Given the description of an element on the screen output the (x, y) to click on. 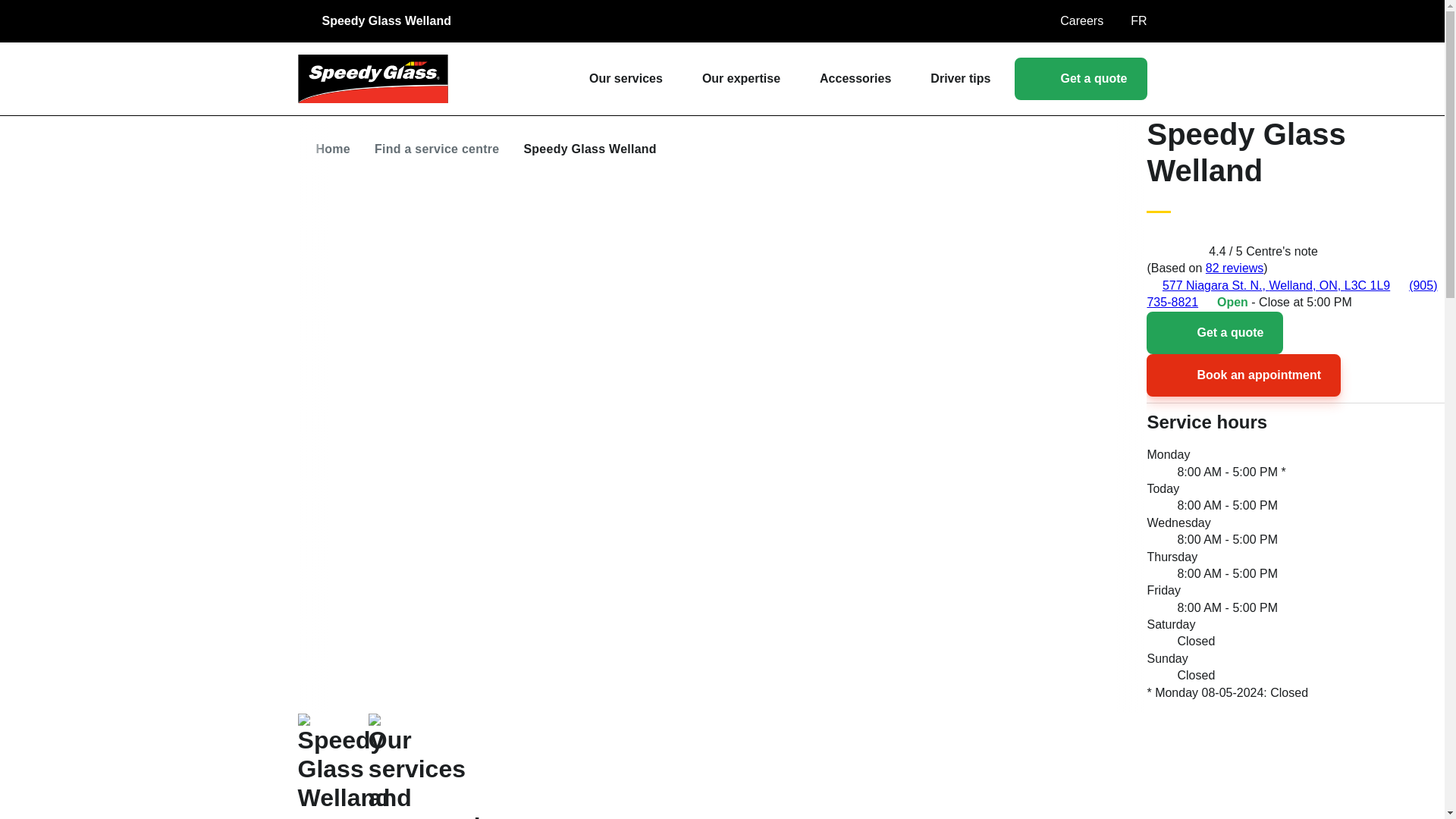
82 reviews (1234, 267)
Home (332, 149)
Open the service (1011, 21)
Driver tips (960, 78)
Get a quote (1080, 78)
Home (371, 78)
Accessories (862, 78)
Our expertise (747, 78)
Our services (633, 78)
Find a service centre (436, 149)
Speedy Glass Welland (385, 21)
Careers (1081, 21)
